Given the description of an element on the screen output the (x, y) to click on. 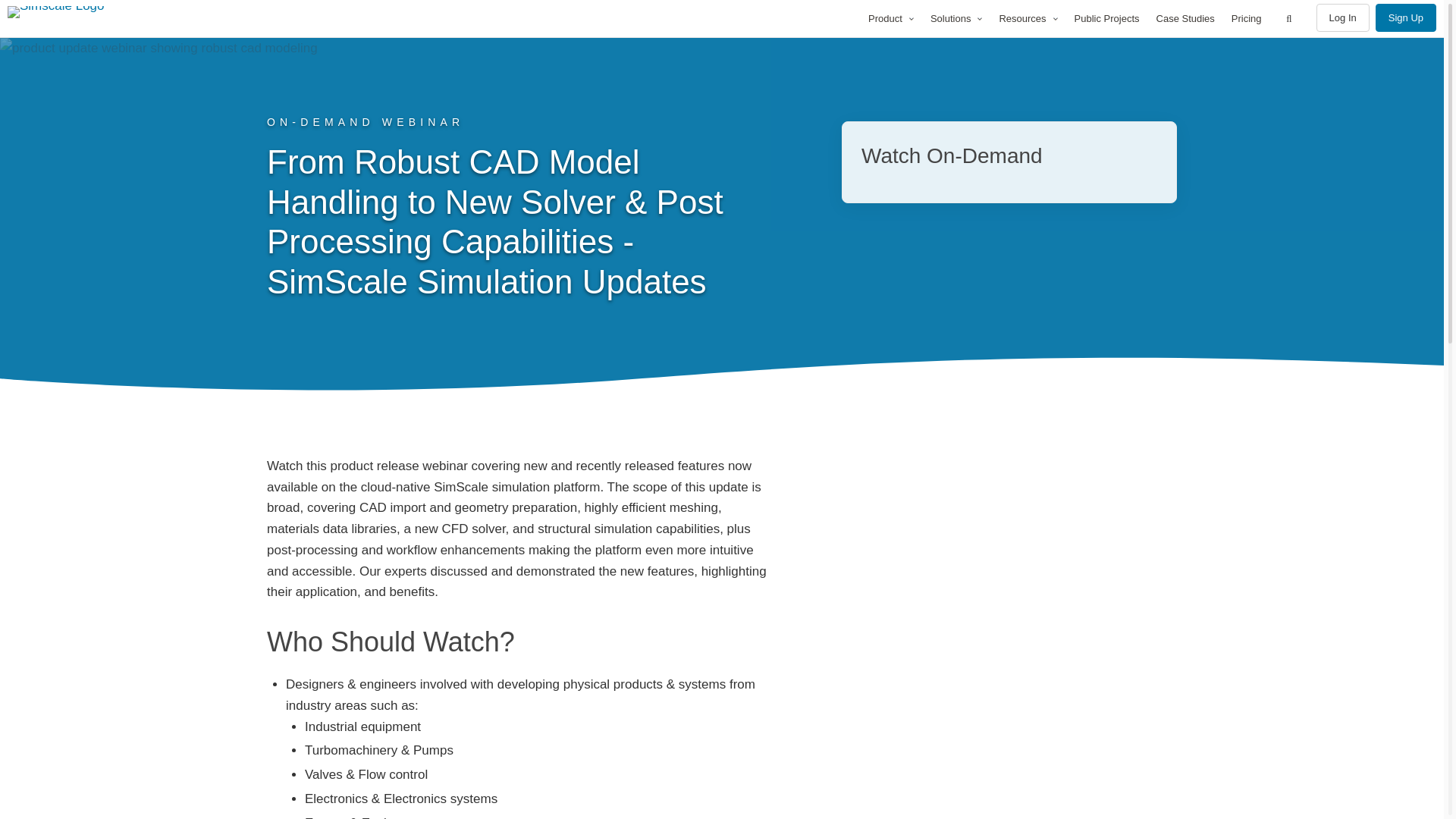
Product (890, 18)
Simscale Logo (75, 11)
Solutions (955, 18)
